Given the description of an element on the screen output the (x, y) to click on. 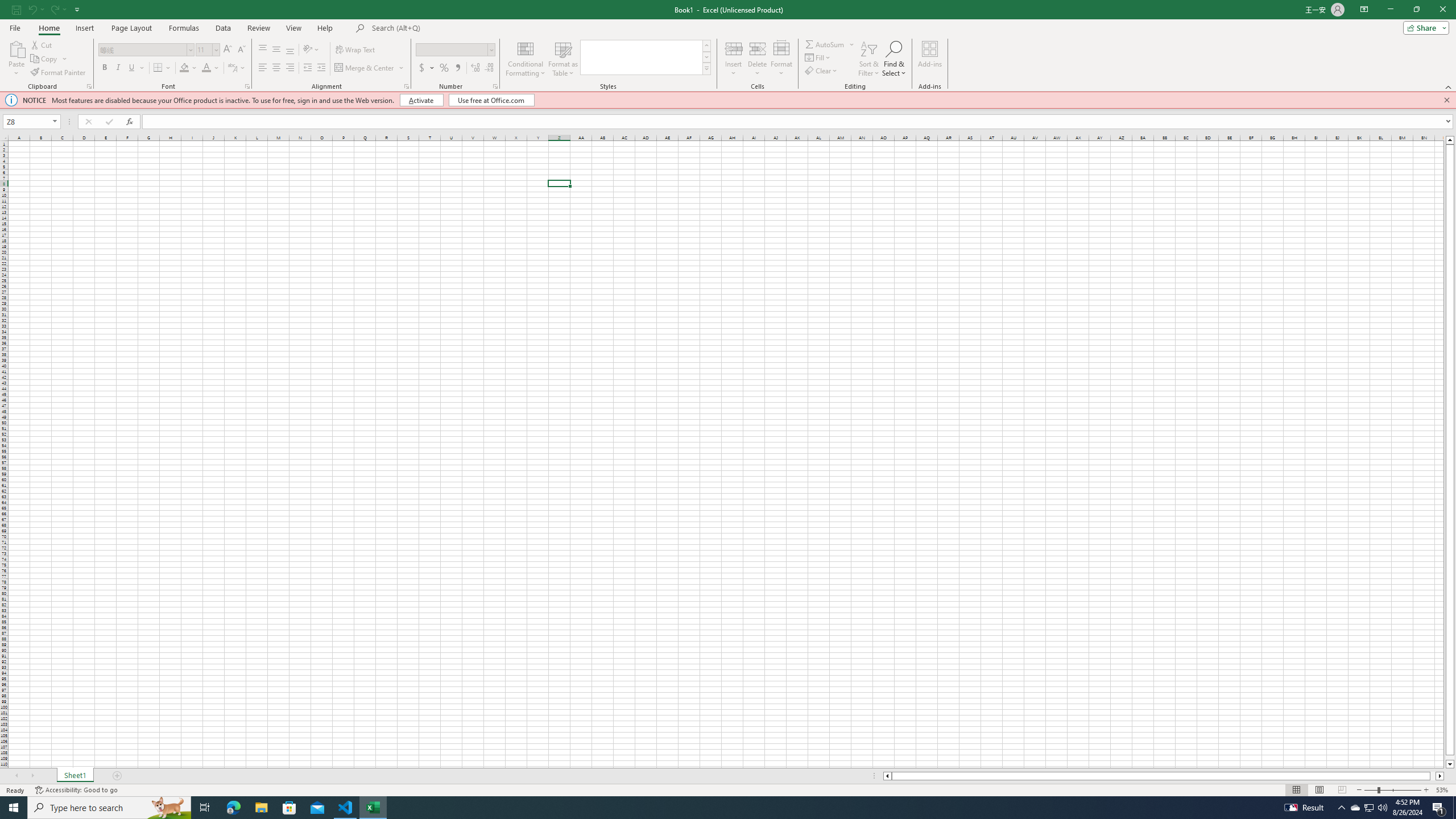
Font Size (204, 49)
Sort & Filter (868, 58)
Font (147, 49)
AutoSum (830, 44)
Fill Color (188, 67)
Format Cell Font (247, 85)
Comma Style (457, 67)
Sum (825, 44)
Middle Align (276, 49)
